Given the description of an element on the screen output the (x, y) to click on. 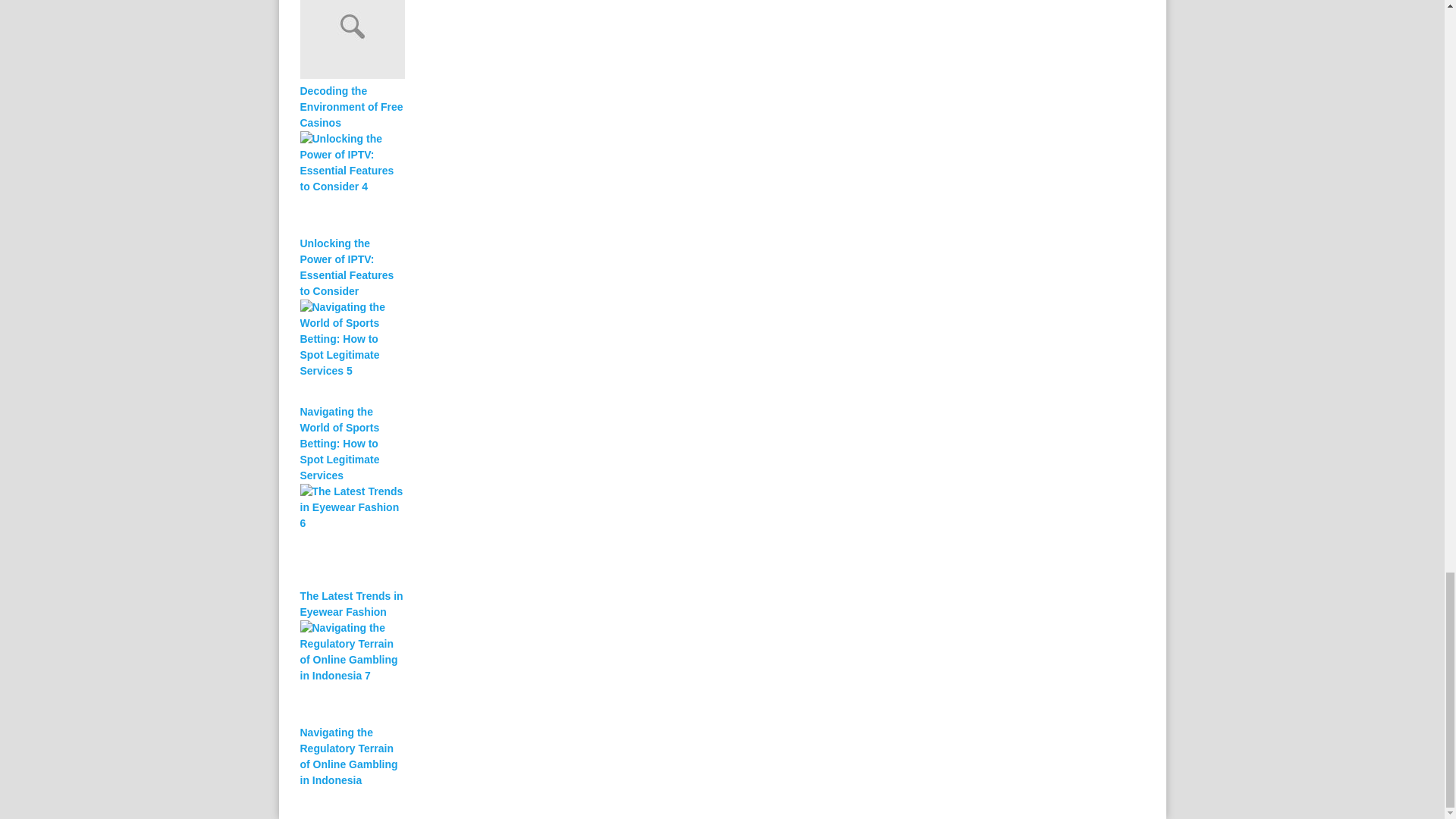
Unlocking the Power of IPTV: Essential Features to Consider (351, 267)
Decoding the Environment of Free Casinos (351, 107)
The Latest Trends in Eyewear Fashion (578, 536)
Unlocking the Power of IPTV: Essential Features to Consider (578, 183)
The Latest Trends in Eyewear Fashion (351, 603)
The Latest Trends in Eyewear Fashion (351, 603)
Decoding the Environment of Free Casinos (351, 107)
Decoding the Environment of Free Casinos (578, 41)
